Given the description of an element on the screen output the (x, y) to click on. 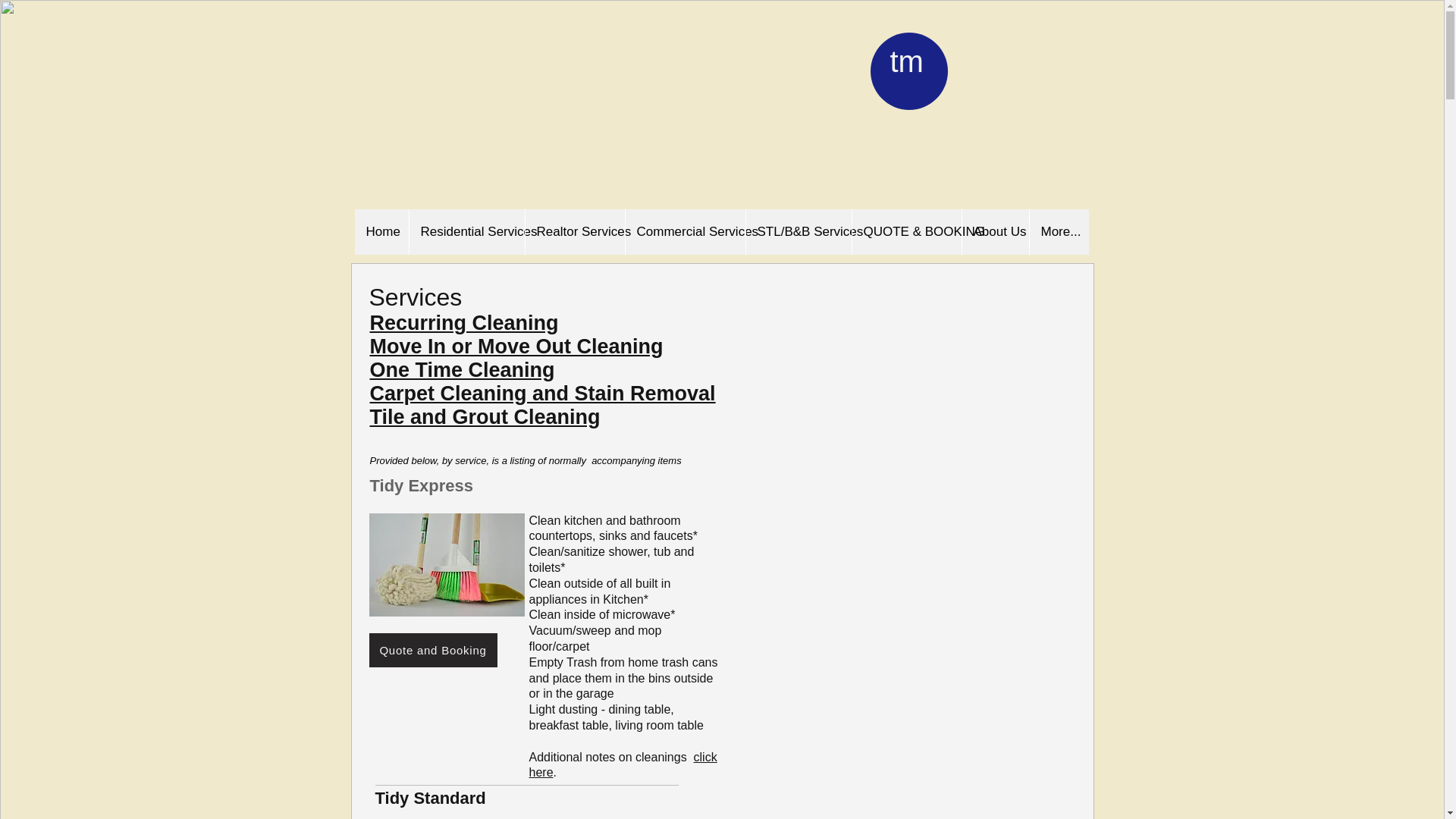
Recurring Cleaning (464, 323)
Home (382, 231)
Quote and Booking (432, 650)
Commercial Services (684, 231)
Tile and Grout Cleaning (484, 416)
Carpet Cleaning and Stain Removal (542, 393)
Move In or Move Out Cleaning (516, 345)
Residential Services (465, 231)
About Us (994, 231)
Realtor Services (574, 231)
One Time Cleaning (461, 369)
click here (623, 765)
